Given the description of an element on the screen output the (x, y) to click on. 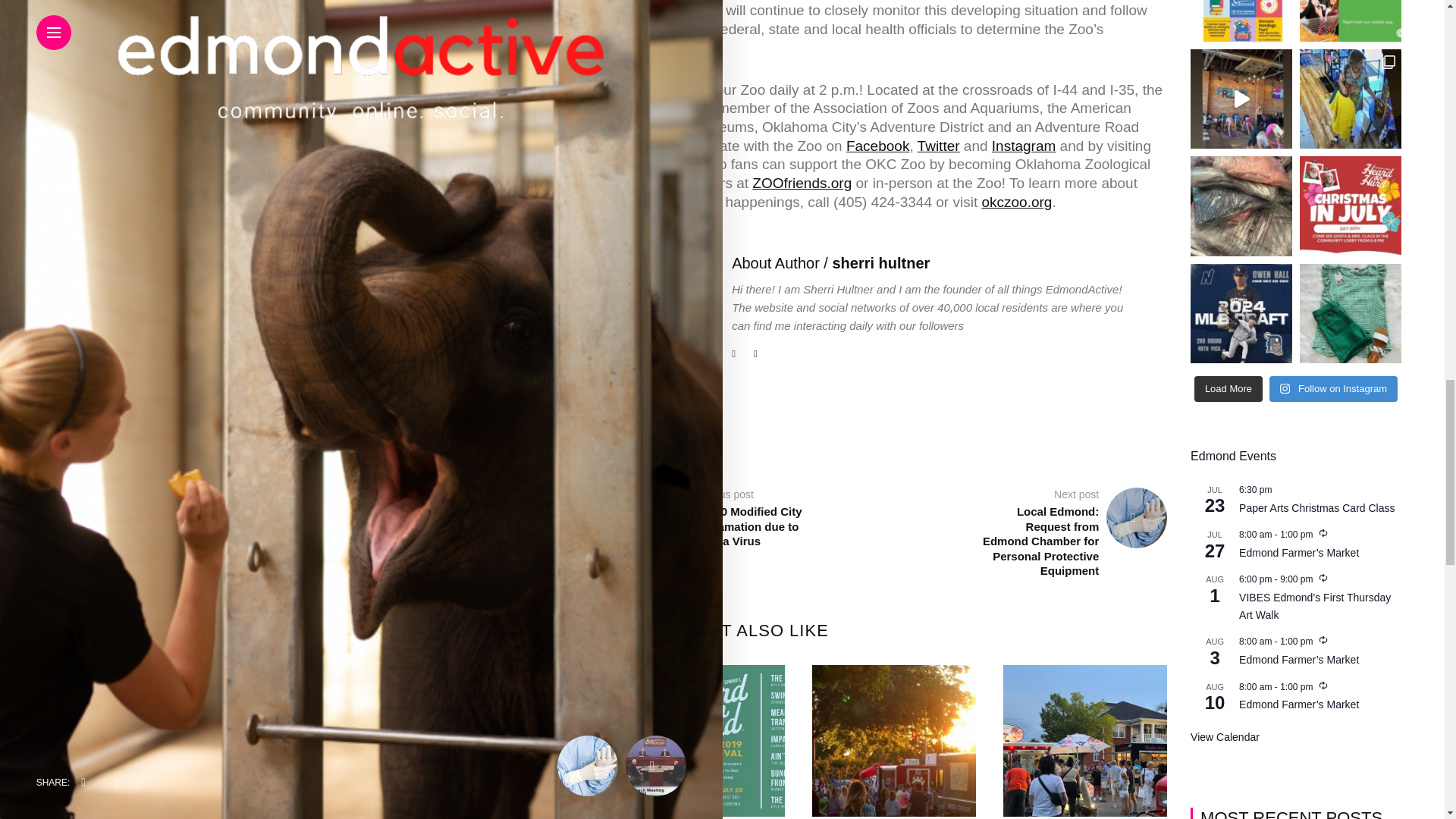
Our Stories (657, 163)
Instagram (1023, 145)
okczoo.org (1016, 201)
Facebook (876, 145)
Recurring (1323, 639)
Posts by sherri hultner (880, 262)
Twitter (938, 145)
Recurring (1323, 577)
Recurring (1323, 532)
ZOOfriends.org (801, 182)
Recurring (1323, 685)
facebook (640, 433)
